Given the description of an element on the screen output the (x, y) to click on. 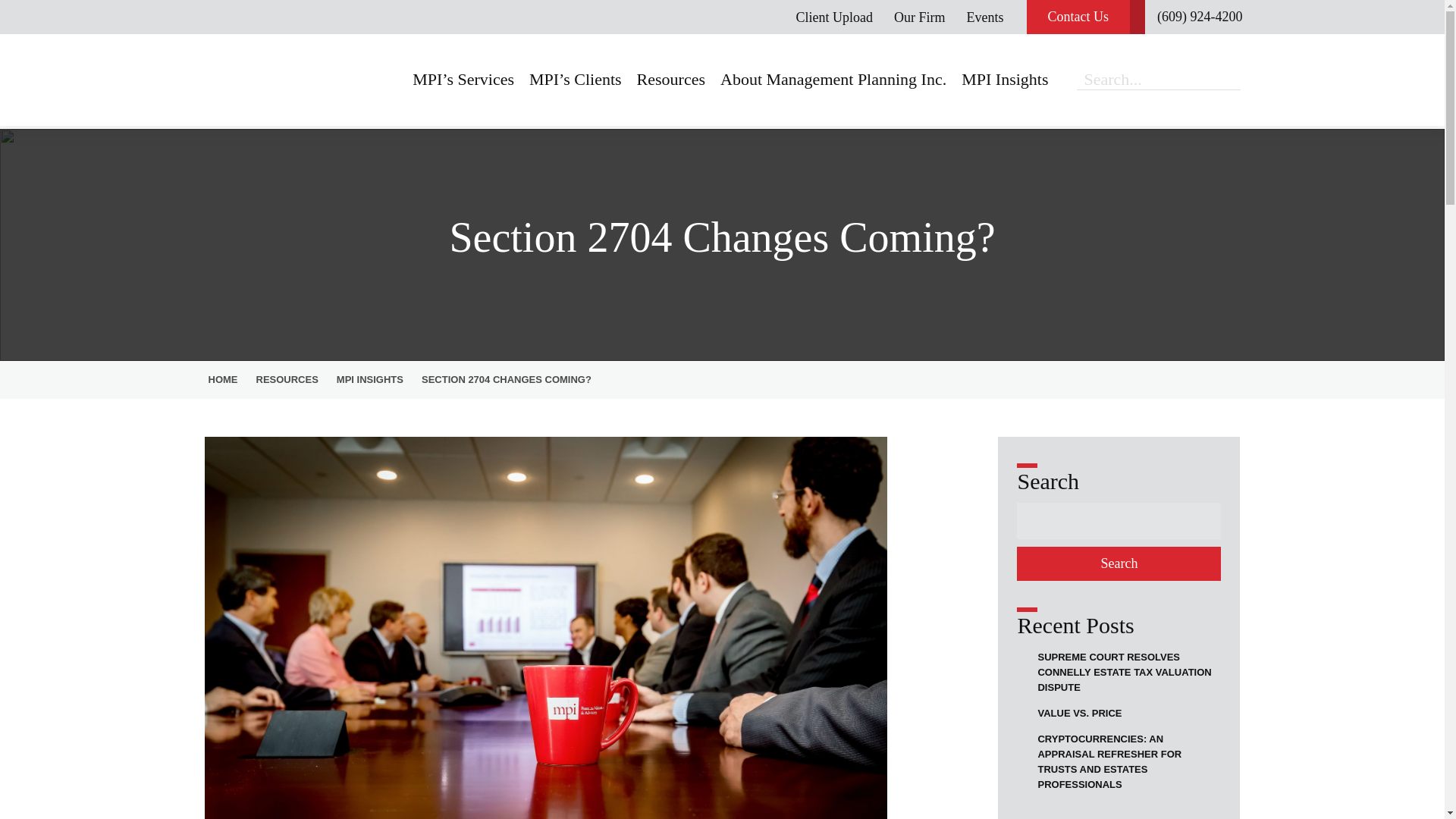
Client Upload (834, 17)
Contact Us (1085, 17)
Our Firm (918, 17)
About Management Planning Inc. (833, 80)
MPI Insights (1004, 80)
Search (1118, 563)
Resources (670, 80)
HOME (226, 379)
Events (985, 17)
